Given the description of an element on the screen output the (x, y) to click on. 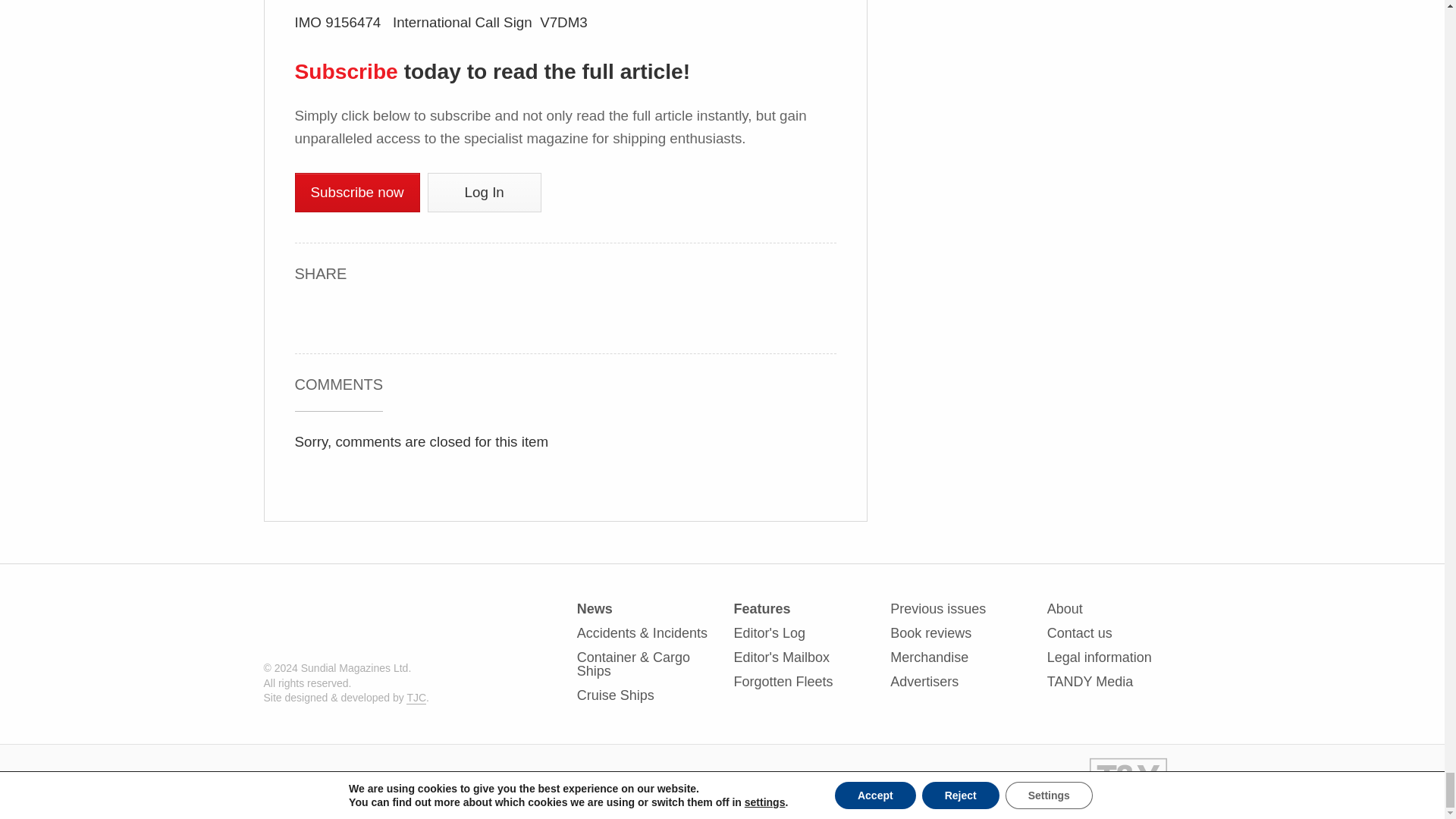
Log In (484, 192)
Subscribe (345, 70)
LinkedIn (344, 313)
Share on LinkedIn (344, 315)
Subscribe now (356, 192)
Share on Facebook (307, 315)
Twitter (379, 313)
Share on Twitter (379, 315)
Facebook (307, 313)
